Given the description of an element on the screen output the (x, y) to click on. 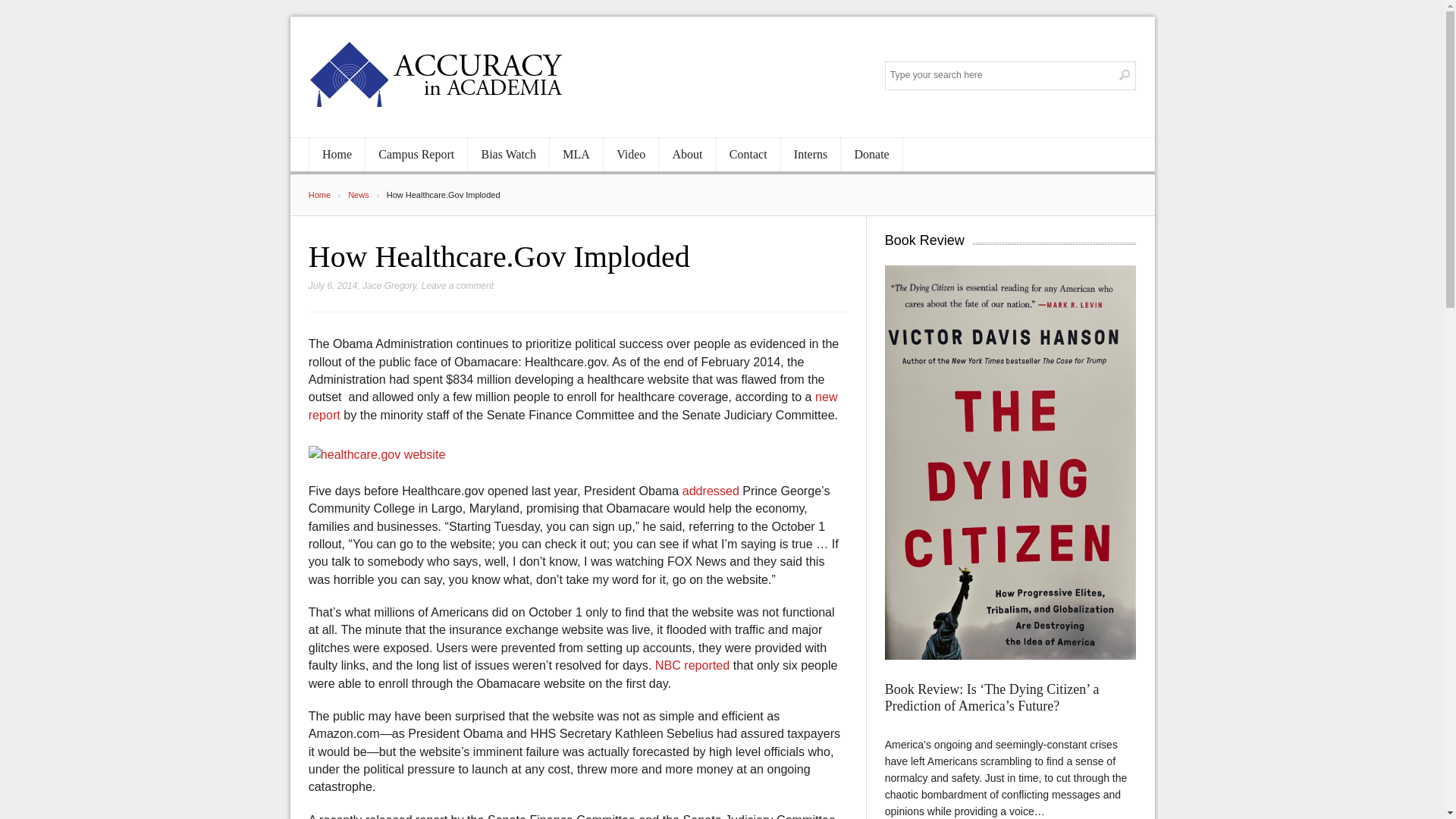
Contact (748, 154)
Donate (871, 154)
Campus Report (416, 154)
Interns (810, 154)
News (367, 194)
Home (336, 154)
Bias Watch (507, 154)
NBC reported (692, 664)
Home (327, 194)
addressed (710, 490)
About (686, 154)
MLA (576, 154)
Leave a comment (457, 285)
Video (631, 154)
new report (573, 404)
